Given the description of an element on the screen output the (x, y) to click on. 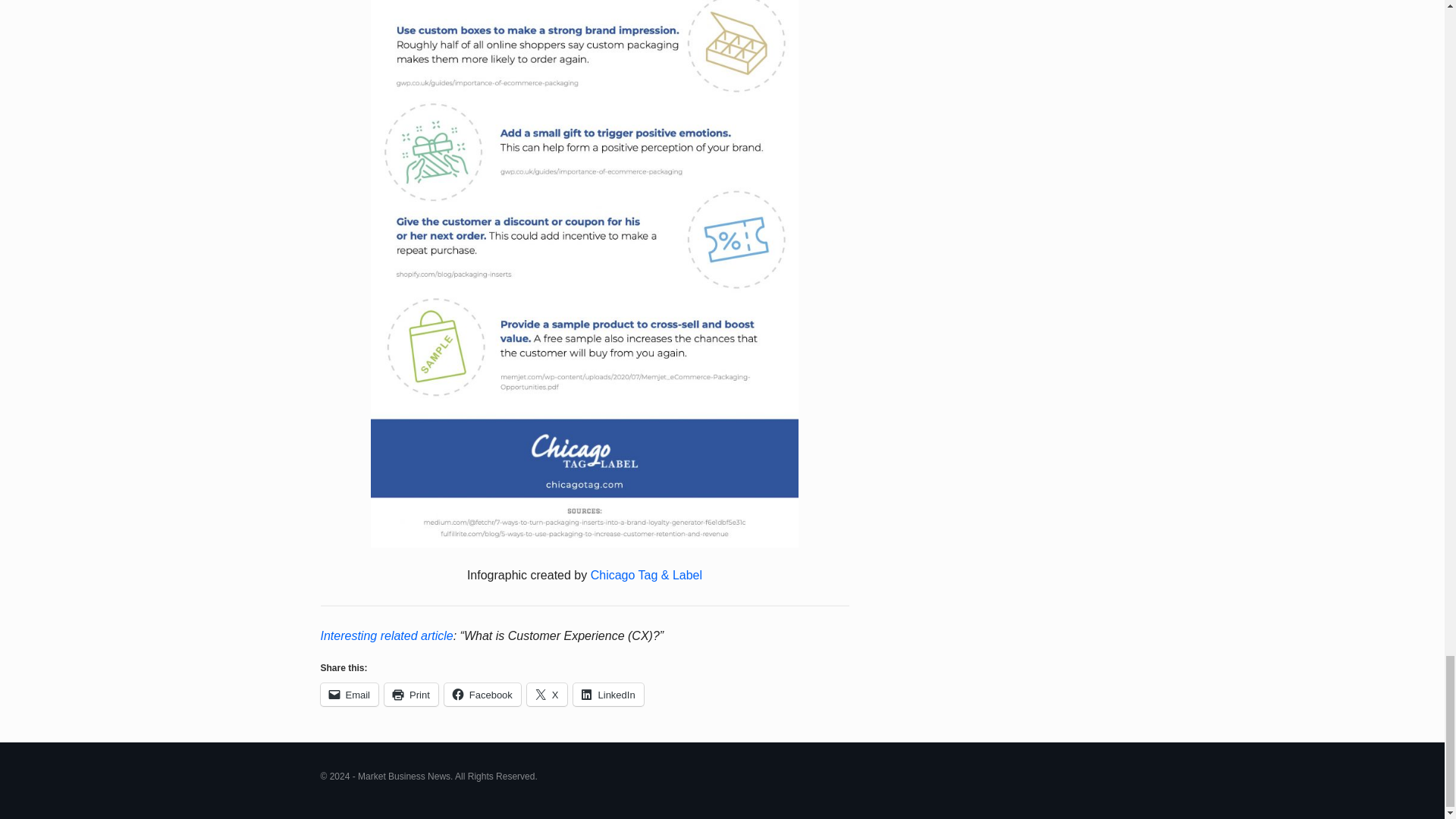
X (547, 694)
LinkedIn (608, 694)
Click to print (411, 694)
Click to email a link to a friend (349, 694)
Click to share on X (547, 694)
Email (349, 694)
Interesting related article (386, 635)
Click to share on LinkedIn (608, 694)
Click to share on Facebook (482, 694)
Facebook (482, 694)
Print (411, 694)
